Given the description of an element on the screen output the (x, y) to click on. 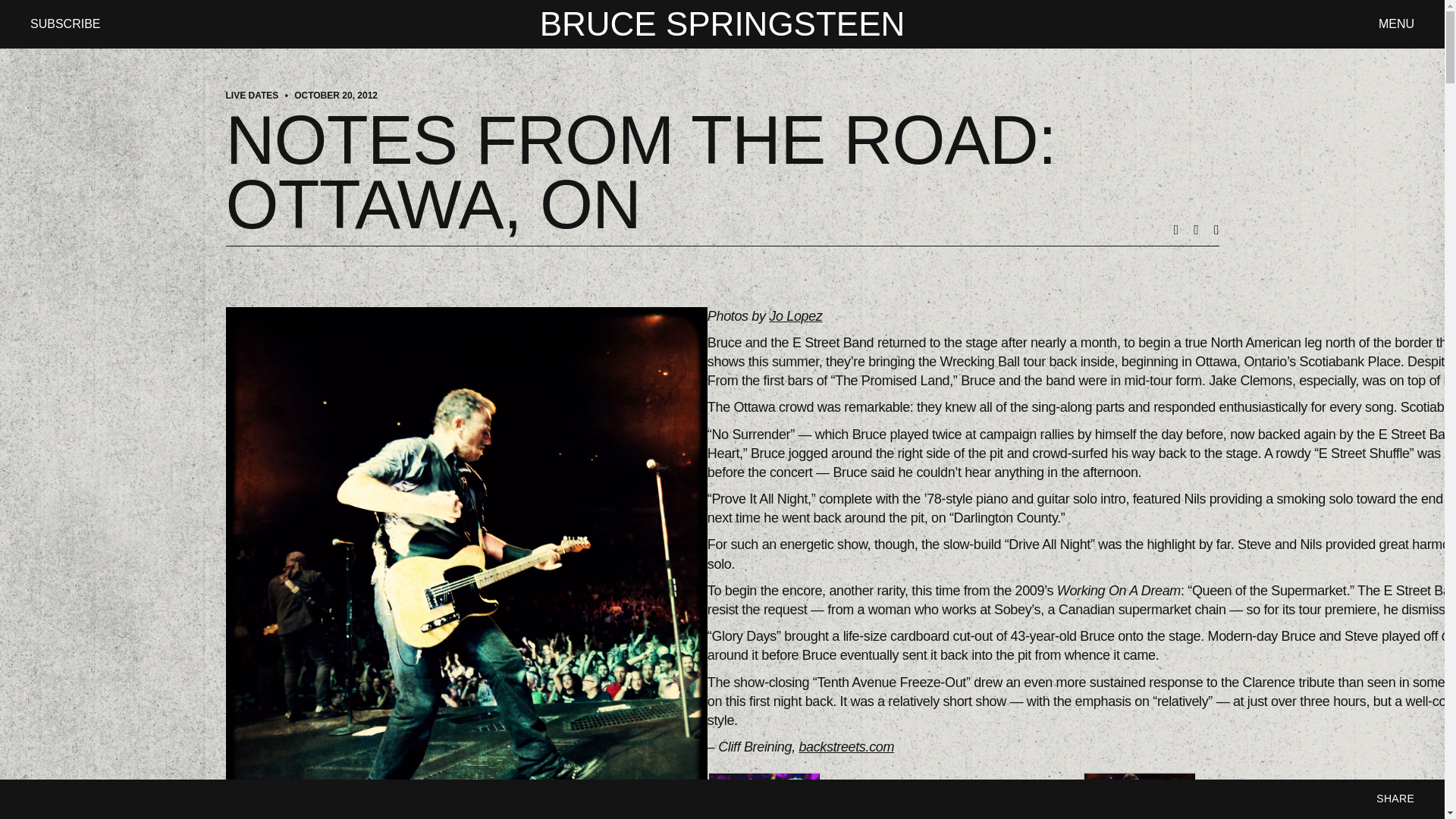
MENU (1395, 23)
backstreets.com (845, 746)
Backstreets (845, 746)
SUBSCRIBE (65, 23)
SHARE (1394, 798)
Jo Lopez (795, 315)
BRUCE SPRINGSTEEN (722, 23)
Jo Lopez (795, 315)
